Given the description of an element on the screen output the (x, y) to click on. 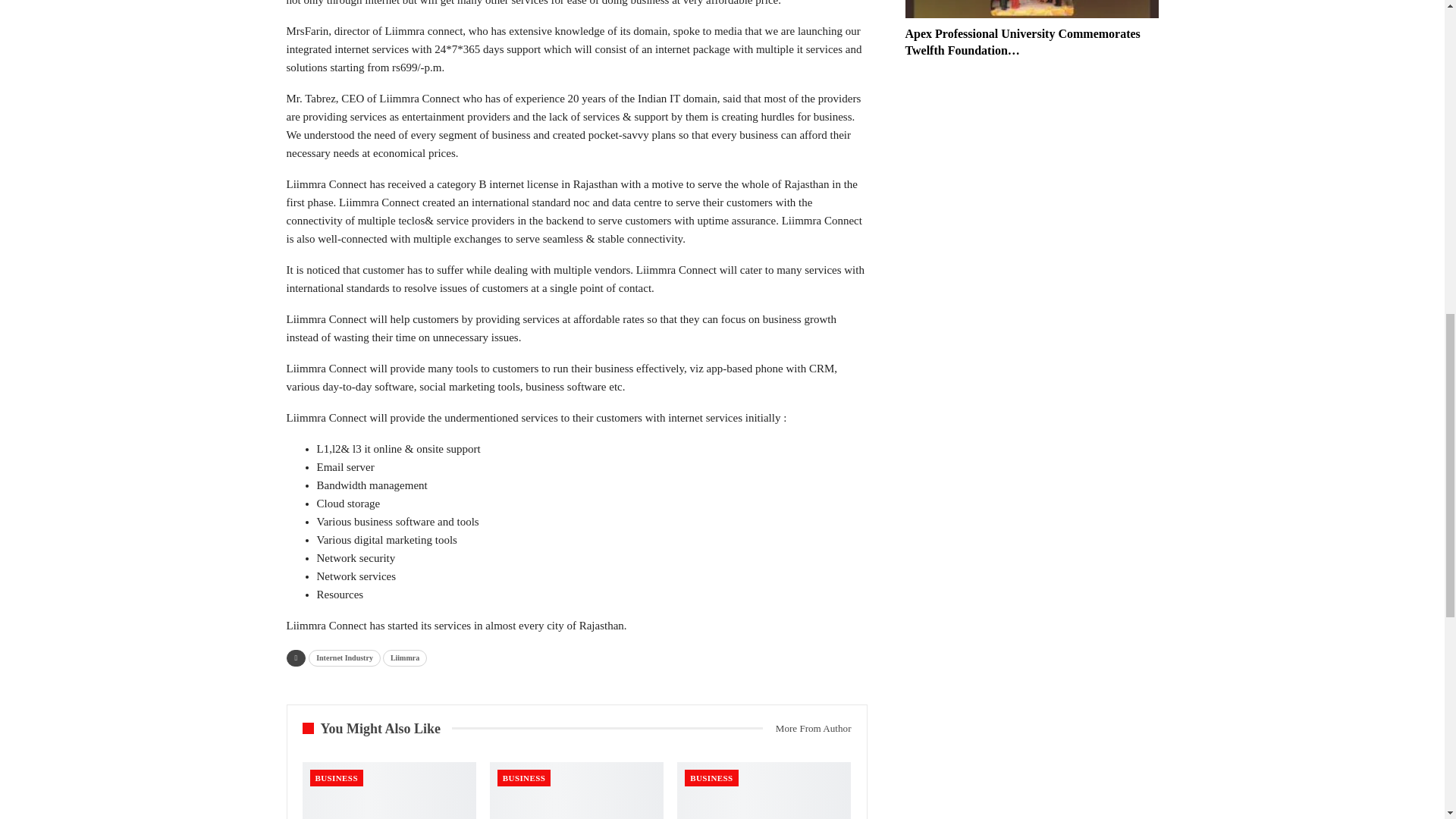
You Might Also Like (376, 728)
Internet Industry (344, 658)
Liimmra (404, 658)
